Given the description of an element on the screen output the (x, y) to click on. 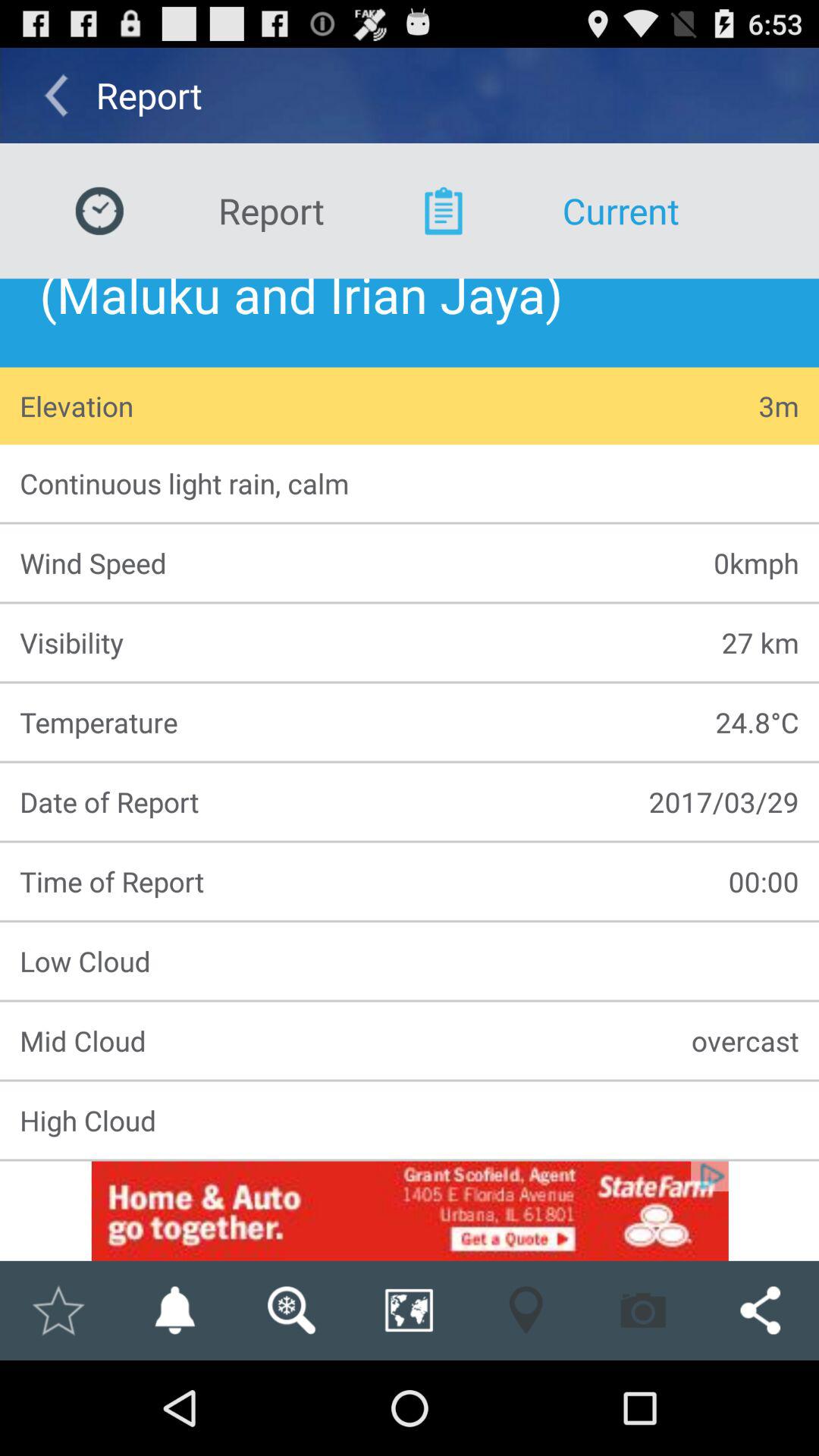
notification option (174, 1310)
